Given the description of an element on the screen output the (x, y) to click on. 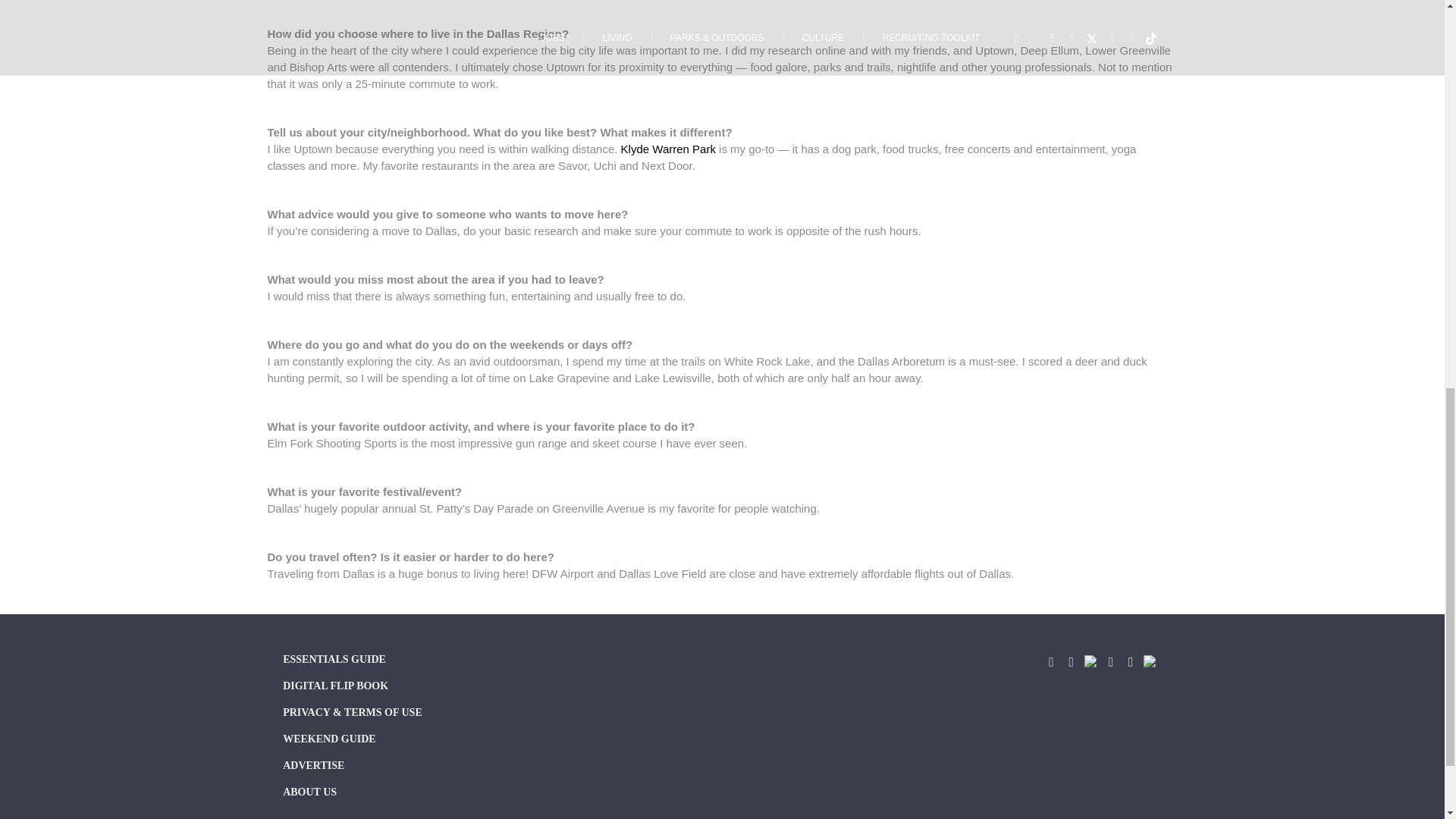
DIGITAL FLIP BOOK (418, 687)
Klyde Warren Park (668, 148)
ESSENTIALS GUIDE (418, 660)
ADVERTISE (418, 767)
WEEKEND GUIDE (418, 741)
Facebook (1051, 661)
X (1091, 661)
ABOUT US (418, 793)
Linkedin (1130, 661)
TikTok (1149, 661)
